Given the description of an element on the screen output the (x, y) to click on. 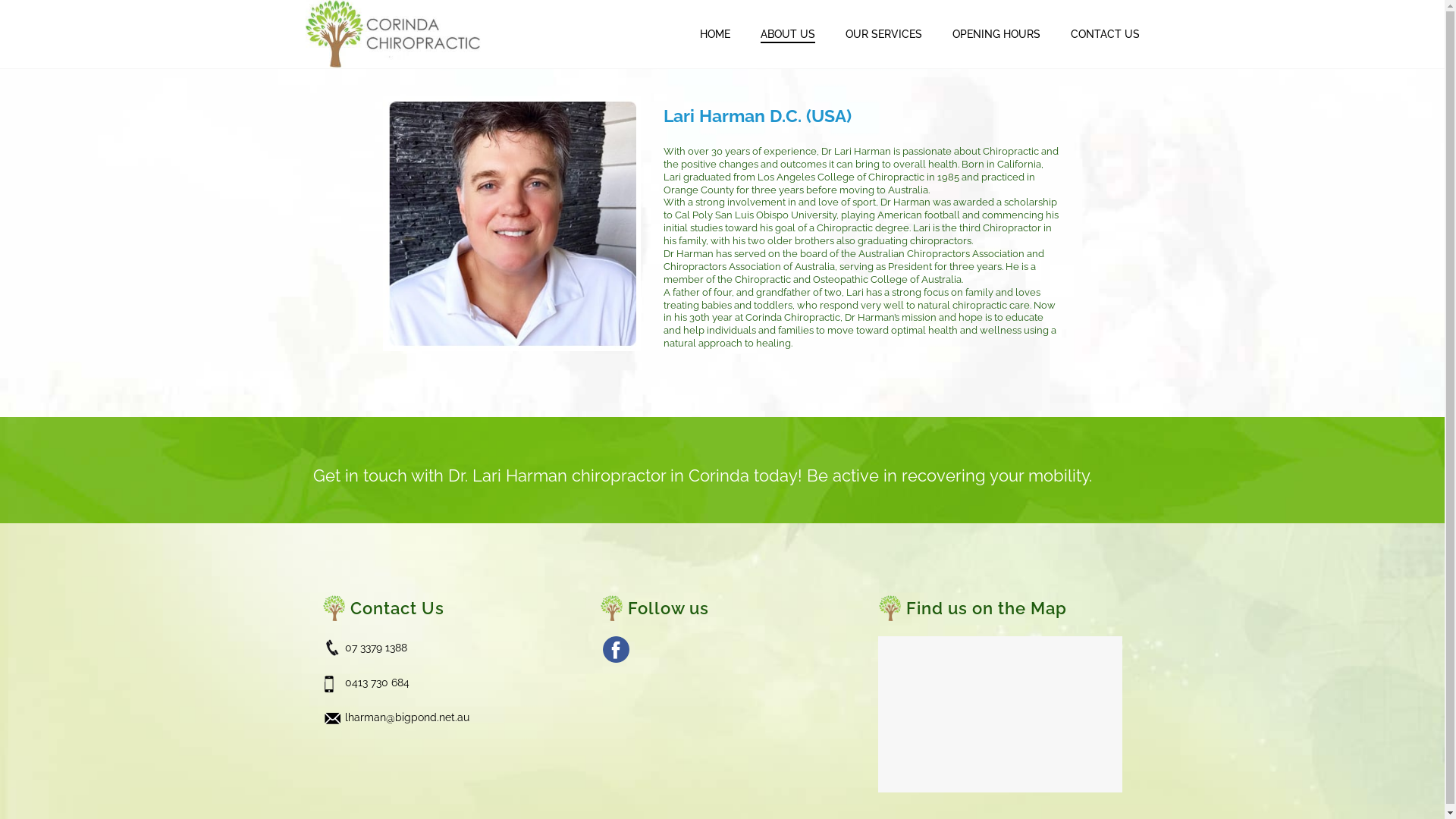
ABOUT US Element type: text (786, 34)
lharman@bigpond.net.au Element type: text (406, 717)
Your Optimal Health Care Element type: hover (395, 34)
CONTACT US Element type: text (1104, 34)
OPENING HOURS Element type: text (996, 34)
OUR SERVICES Element type: text (882, 34)
07 3379 1388 Element type: text (375, 647)
0413 730 684 Element type: text (376, 682)
HOME Element type: text (714, 34)
